Given the description of an element on the screen output the (x, y) to click on. 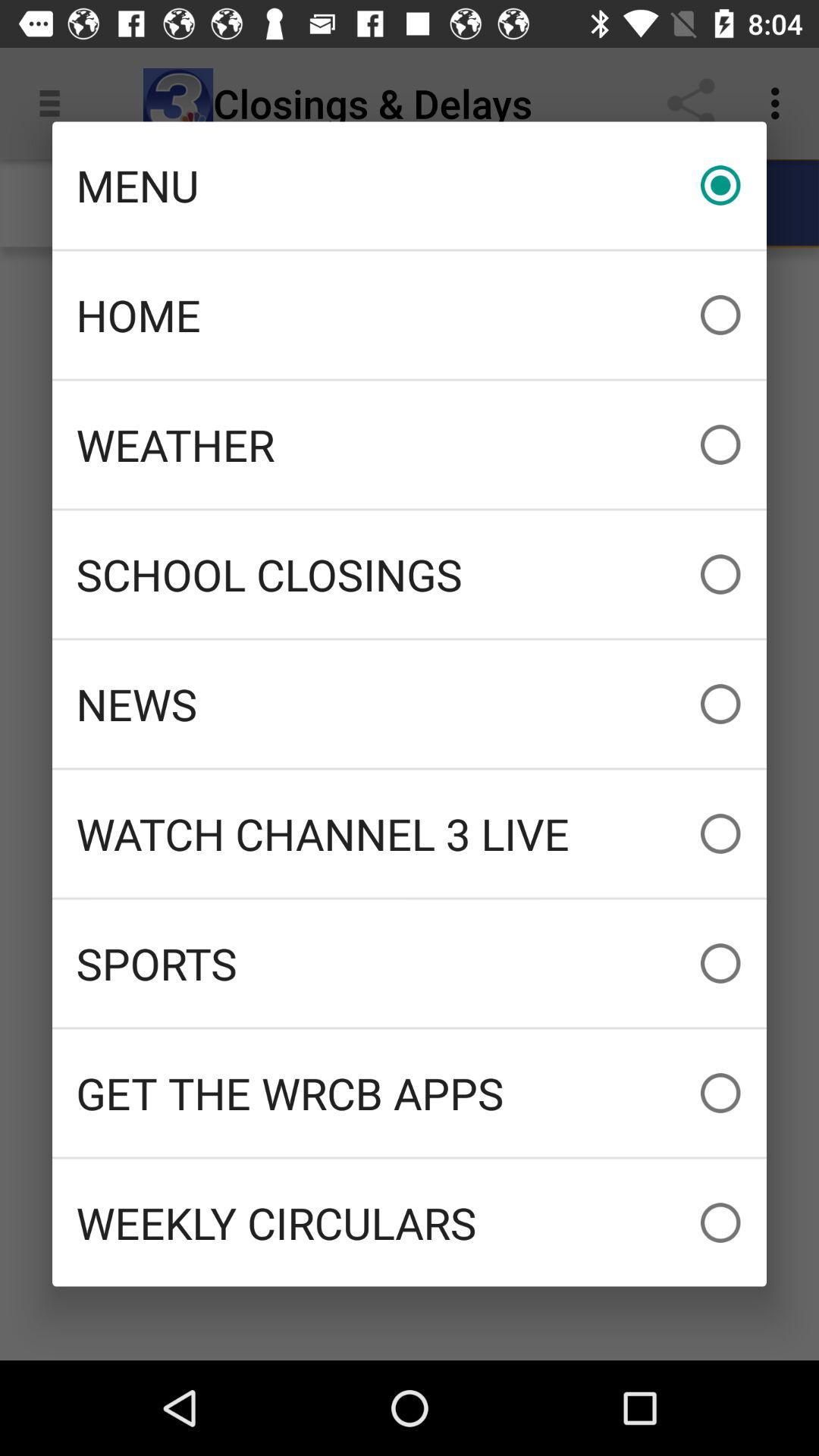
open item above news icon (409, 574)
